Given the description of an element on the screen output the (x, y) to click on. 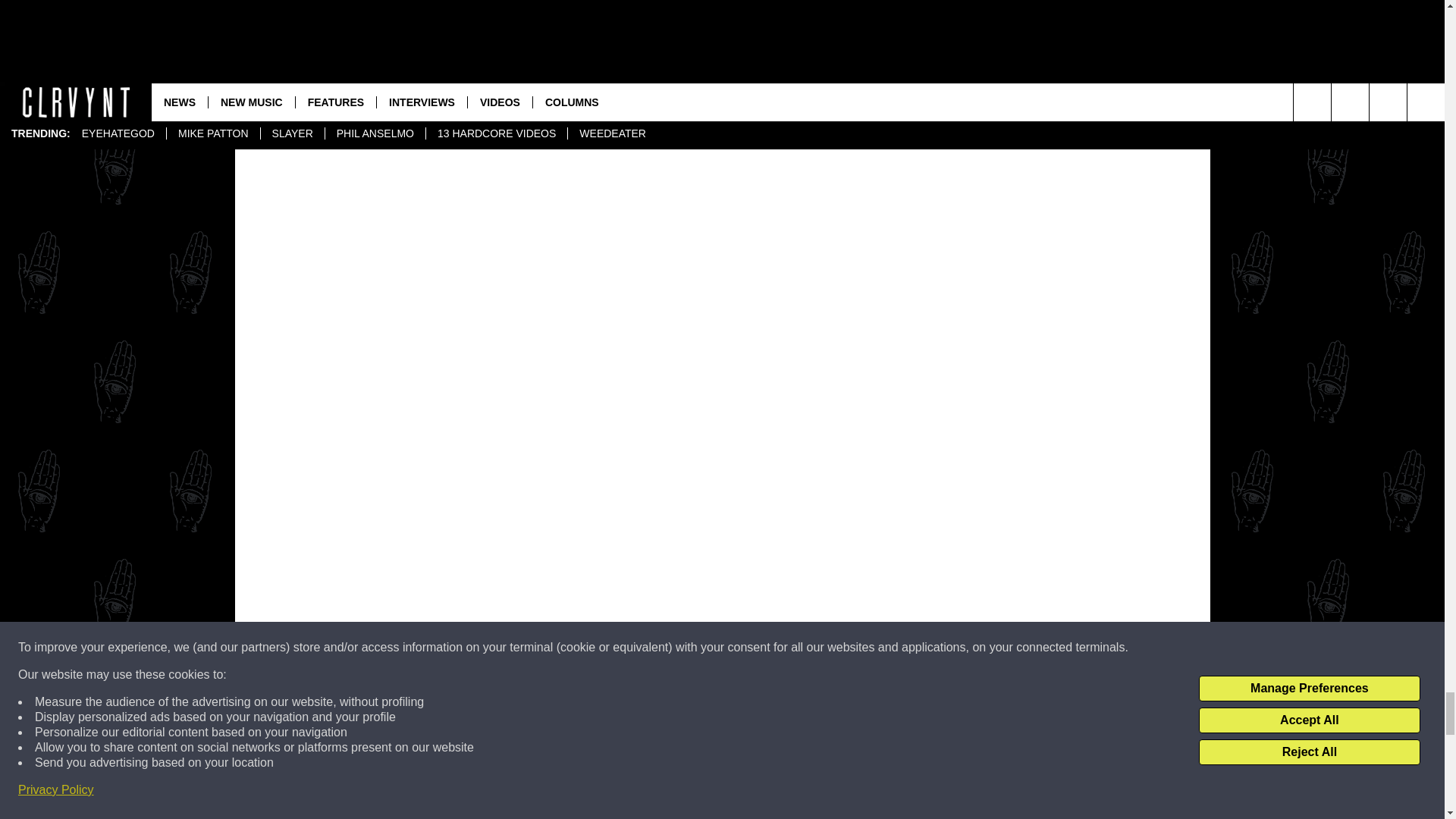
THE FOUR HORSEMEN OF ROCK'S APOCALYPSE RODE HIGH LAST WEEK (714, 773)
